Given the description of an element on the screen output the (x, y) to click on. 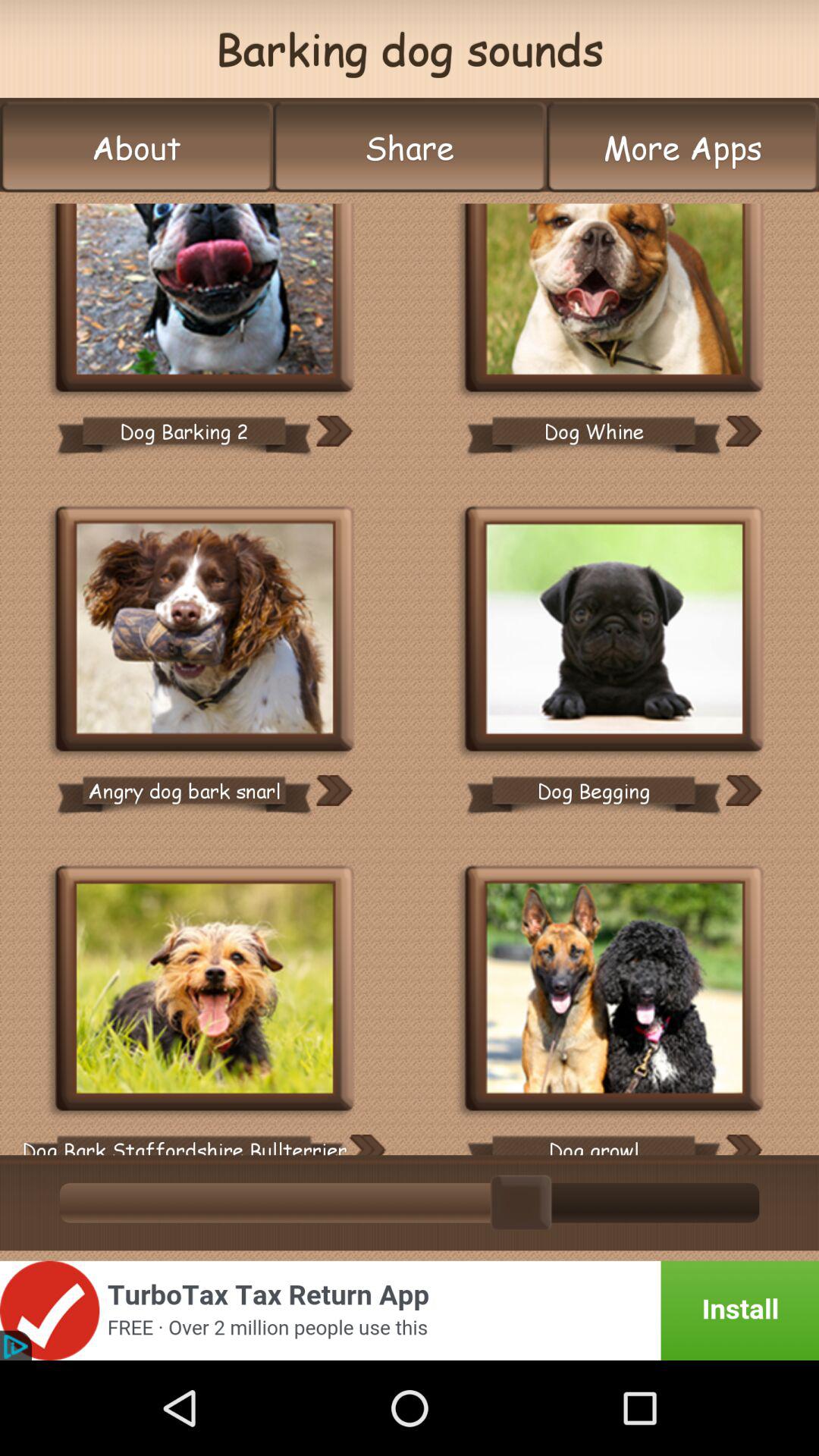
go to next (333, 430)
